Given the description of an element on the screen output the (x, y) to click on. 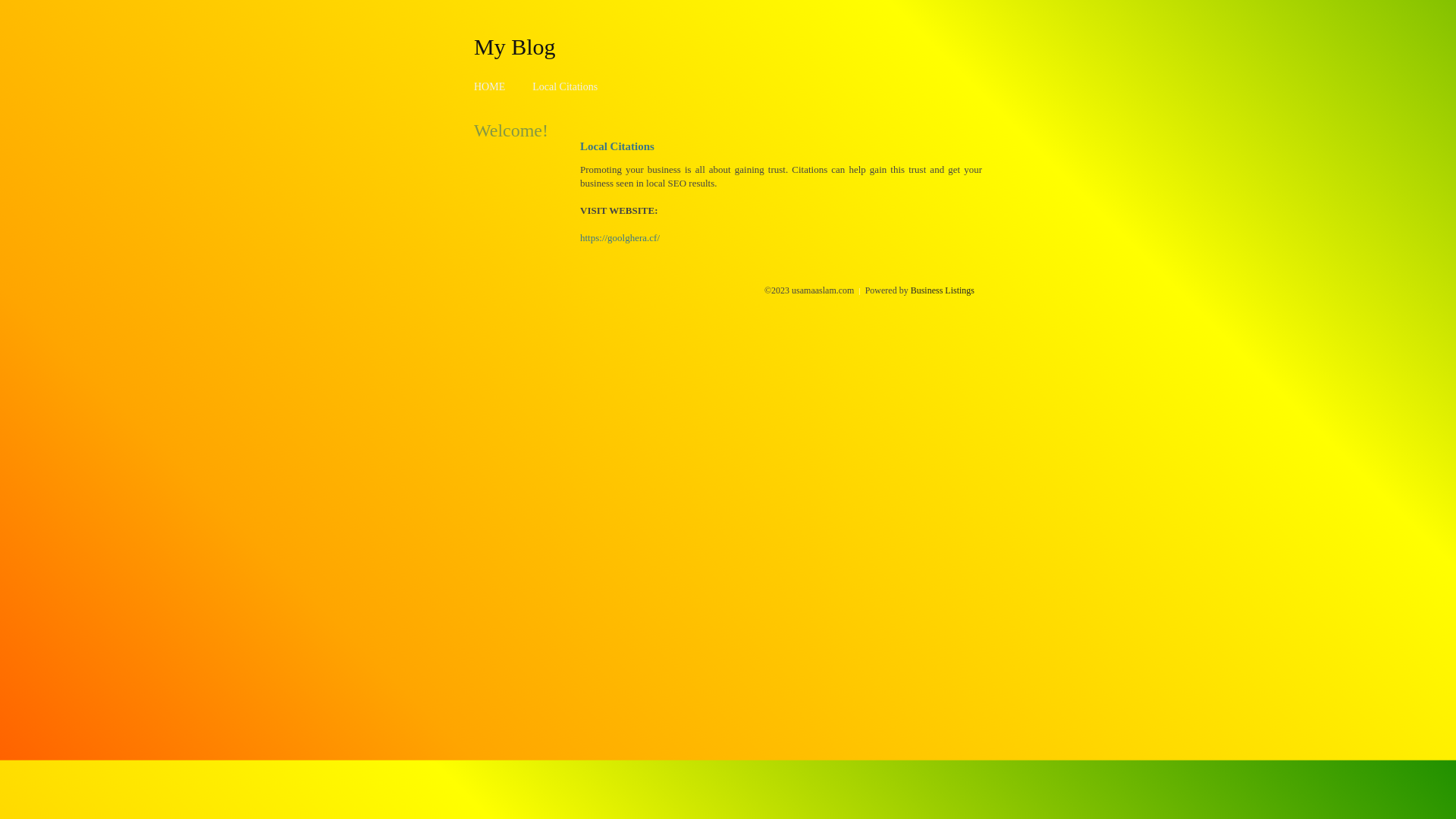
Business Listings Element type: text (942, 290)
HOME Element type: text (489, 86)
Local Citations Element type: text (564, 86)
https://goolghera.cf/ Element type: text (619, 237)
My Blog Element type: text (514, 46)
